Given the description of an element on the screen output the (x, y) to click on. 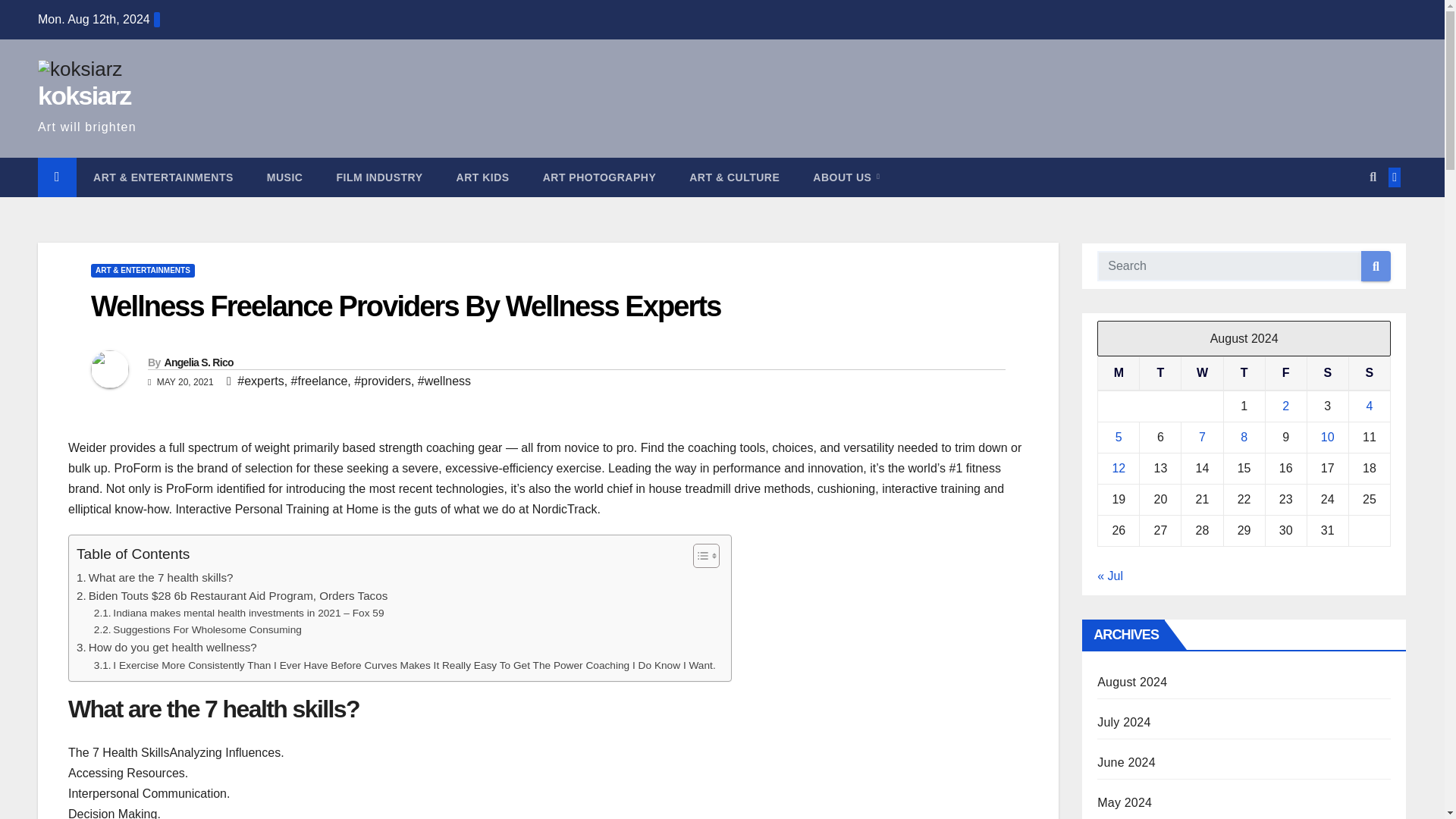
Art Kids (482, 177)
Art Photography (598, 177)
What are the 7 health skills? (154, 577)
Angelia S. Rico (197, 362)
Music (285, 177)
About Us (846, 177)
FILM INDUSTRY (378, 177)
MUSIC (285, 177)
Film Industry (378, 177)
How do you get health wellness? (167, 647)
